Given the description of an element on the screen output the (x, y) to click on. 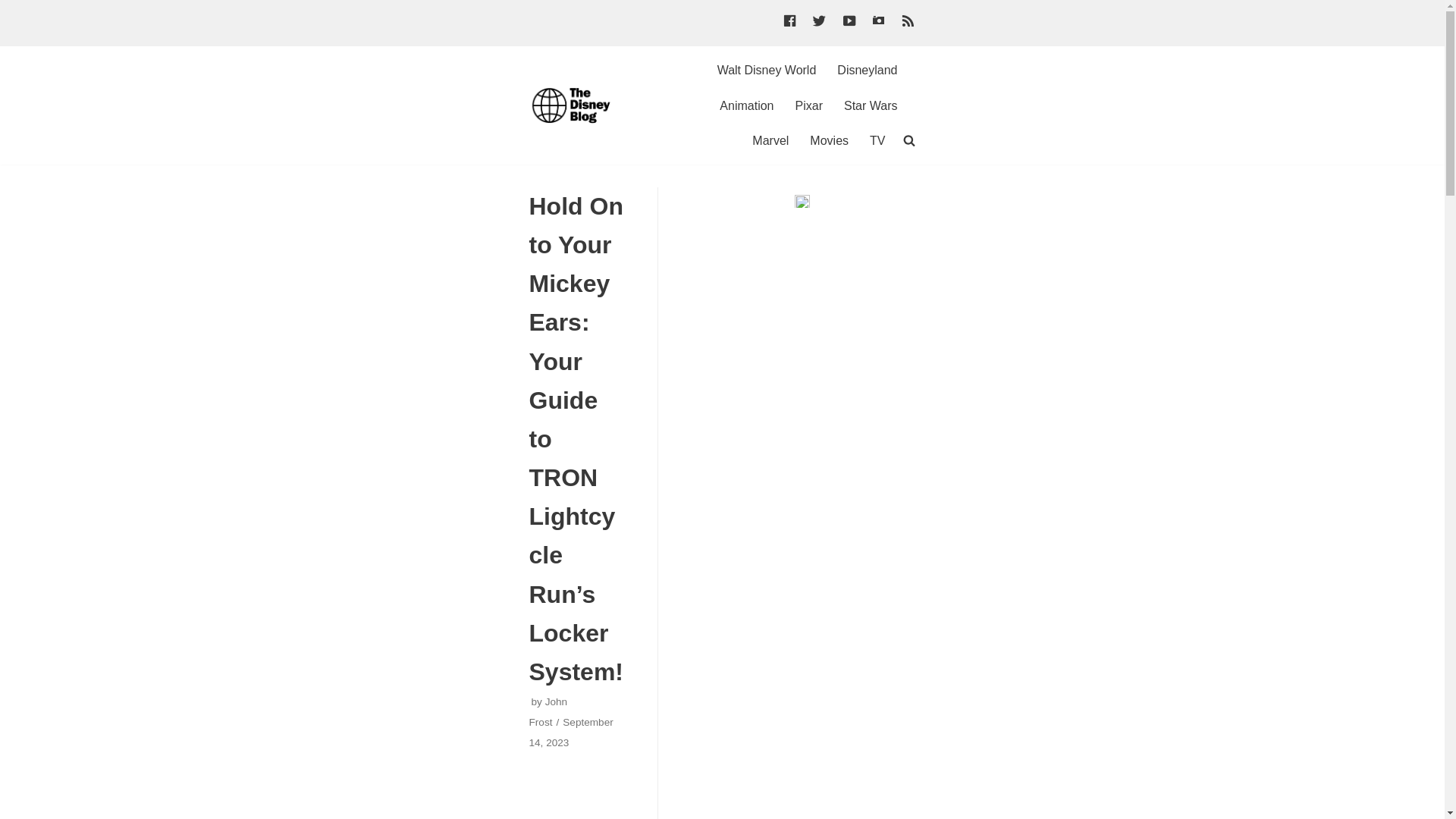
Animation (746, 105)
John Frost (548, 712)
Skip to content (15, 7)
Posts by John Frost (548, 712)
Disneyland (866, 69)
Pixar (808, 105)
Star Wars (871, 105)
Walt Disney World (766, 69)
Marvel (770, 140)
Movies (828, 140)
